Given the description of an element on the screen output the (x, y) to click on. 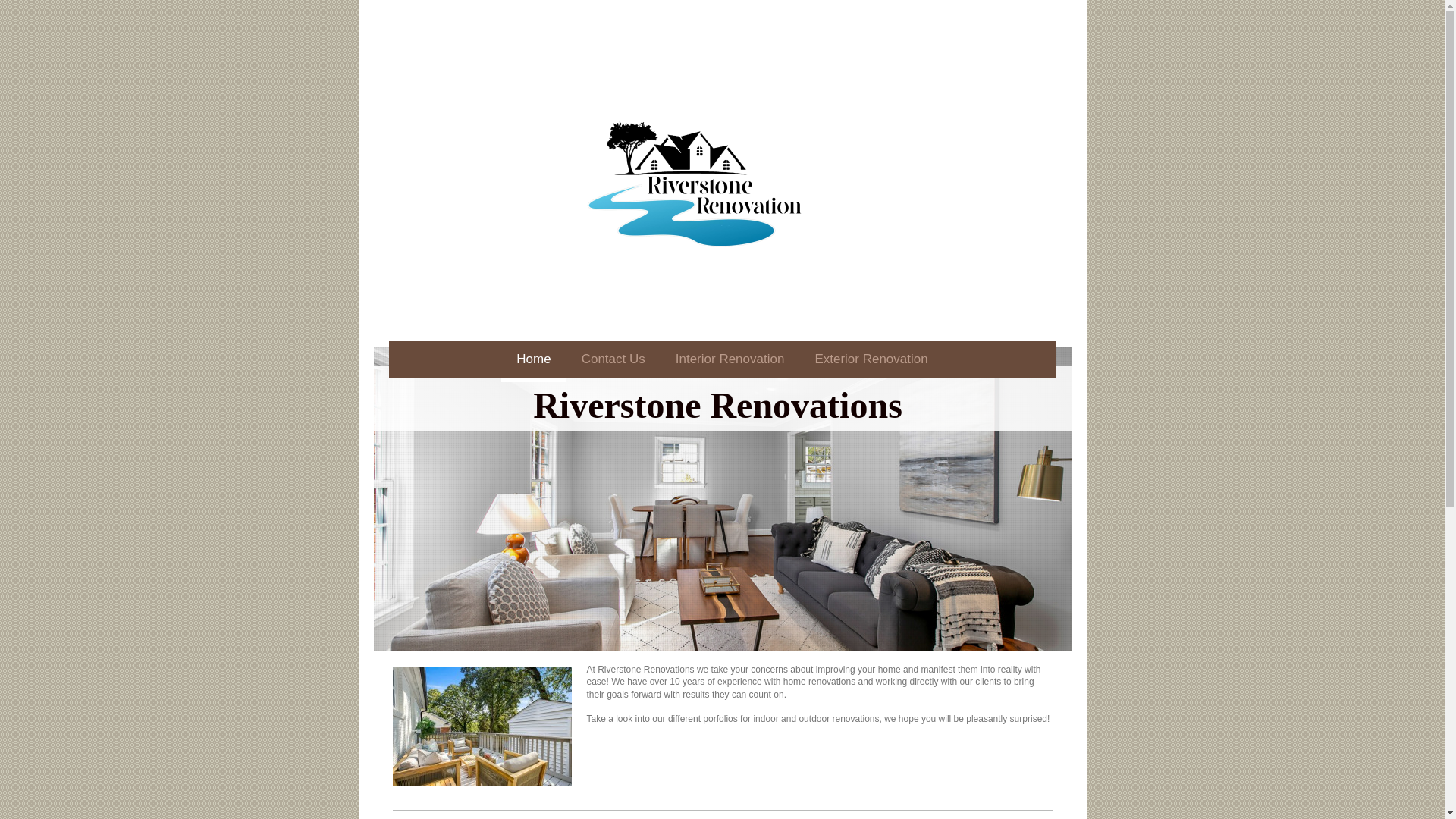
Riverstone Renovations (717, 404)
Interior Renovation (730, 361)
Contact Us (613, 361)
Exterior Renovation (870, 361)
Home (533, 361)
